Given the description of an element on the screen output the (x, y) to click on. 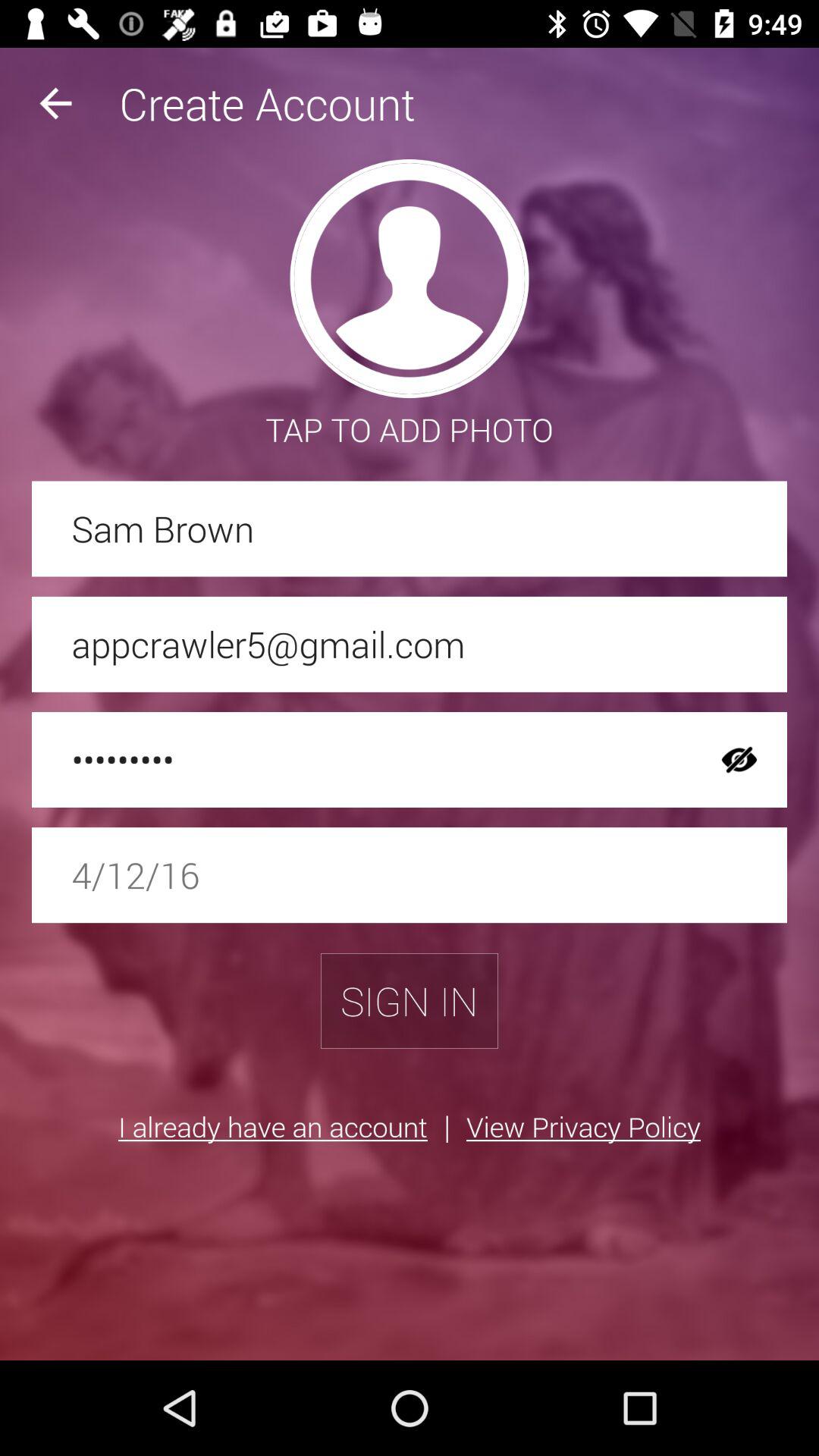
press the icon below the 4/12/16 (409, 1000)
